Given the description of an element on the screen output the (x, y) to click on. 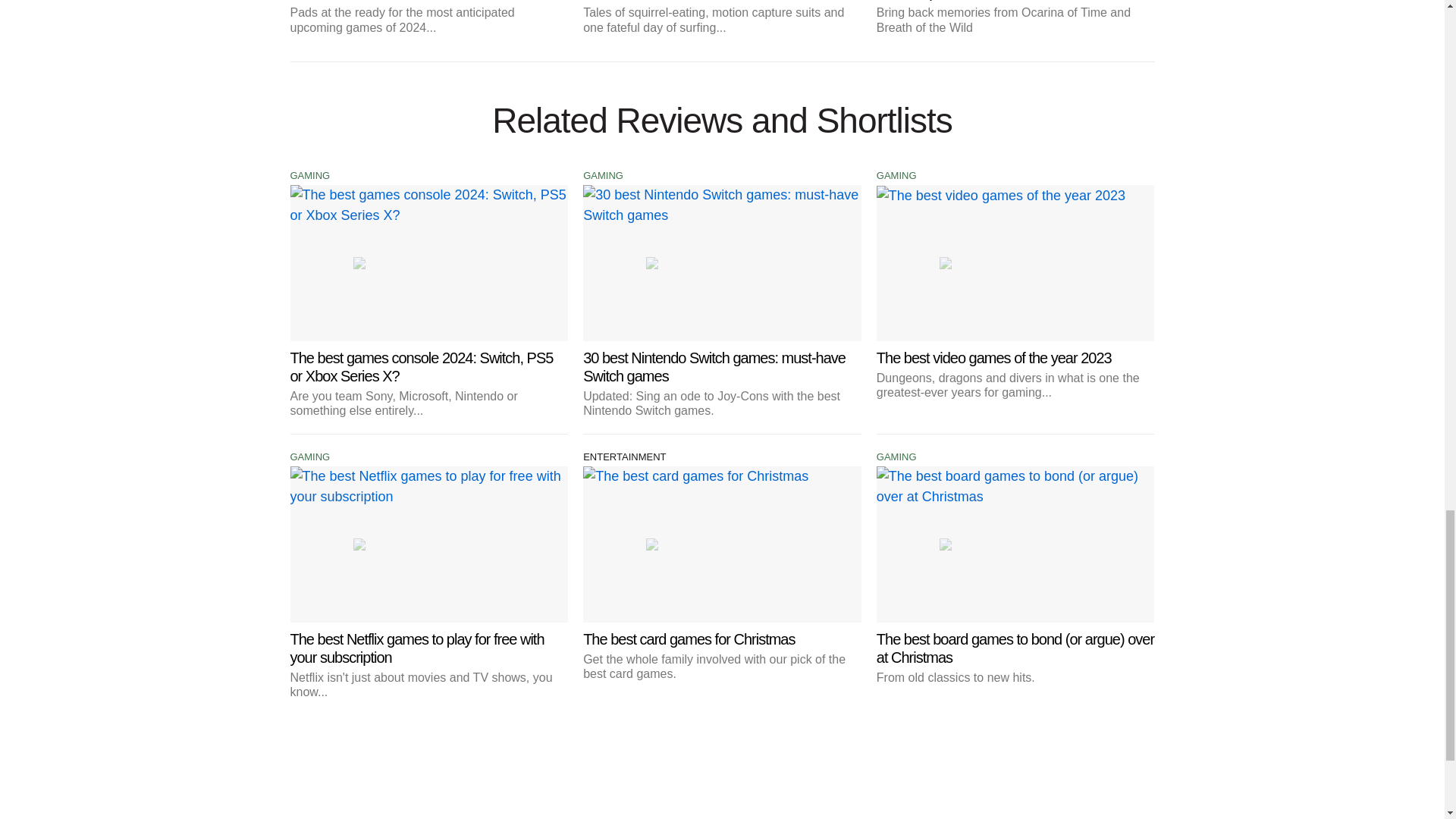
Video game preview: upcoming games to look out for in 2024 (428, 17)
